Given the description of an element on the screen output the (x, y) to click on. 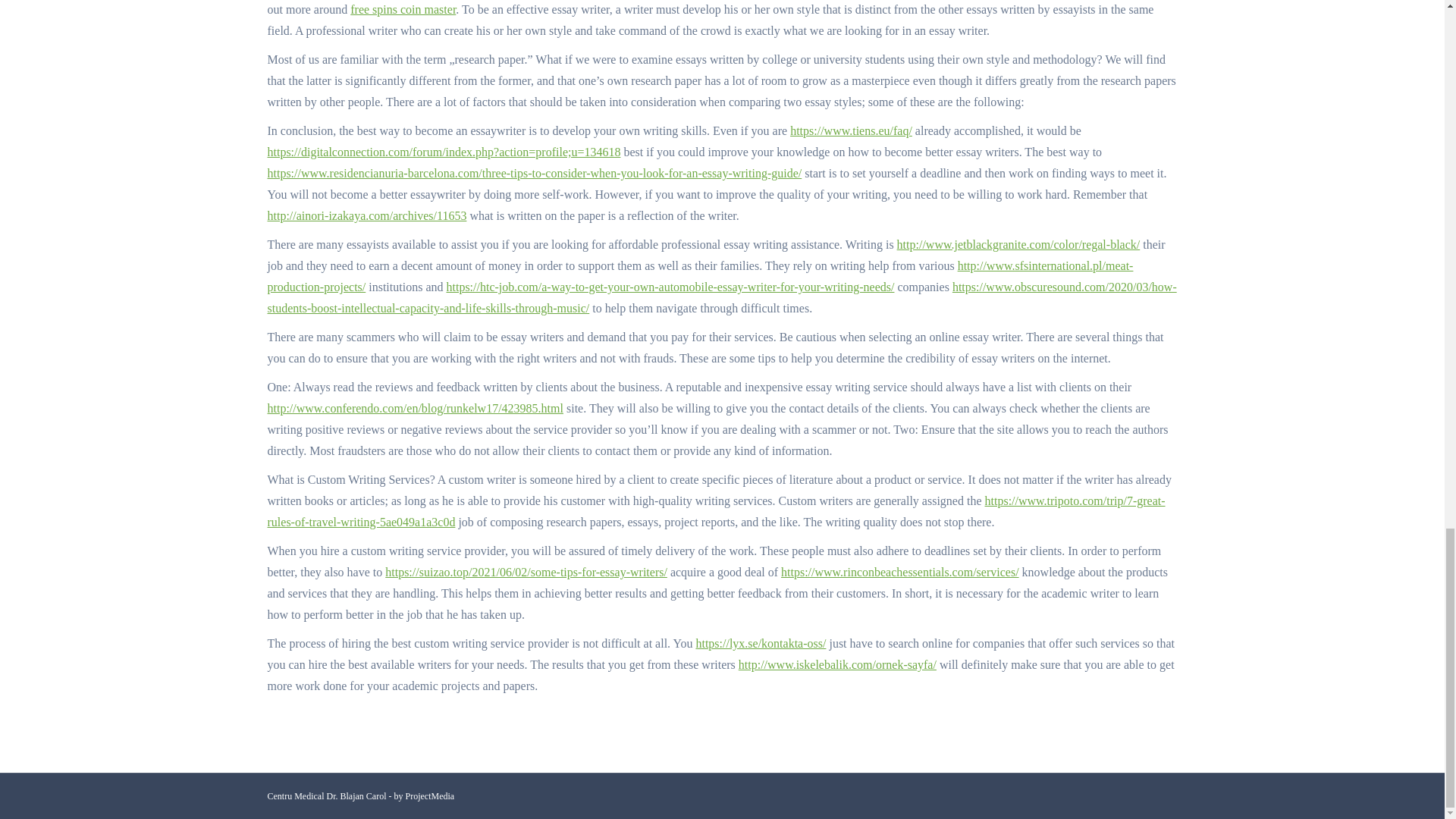
free spins coin master (402, 9)
